Given the description of an element on the screen output the (x, y) to click on. 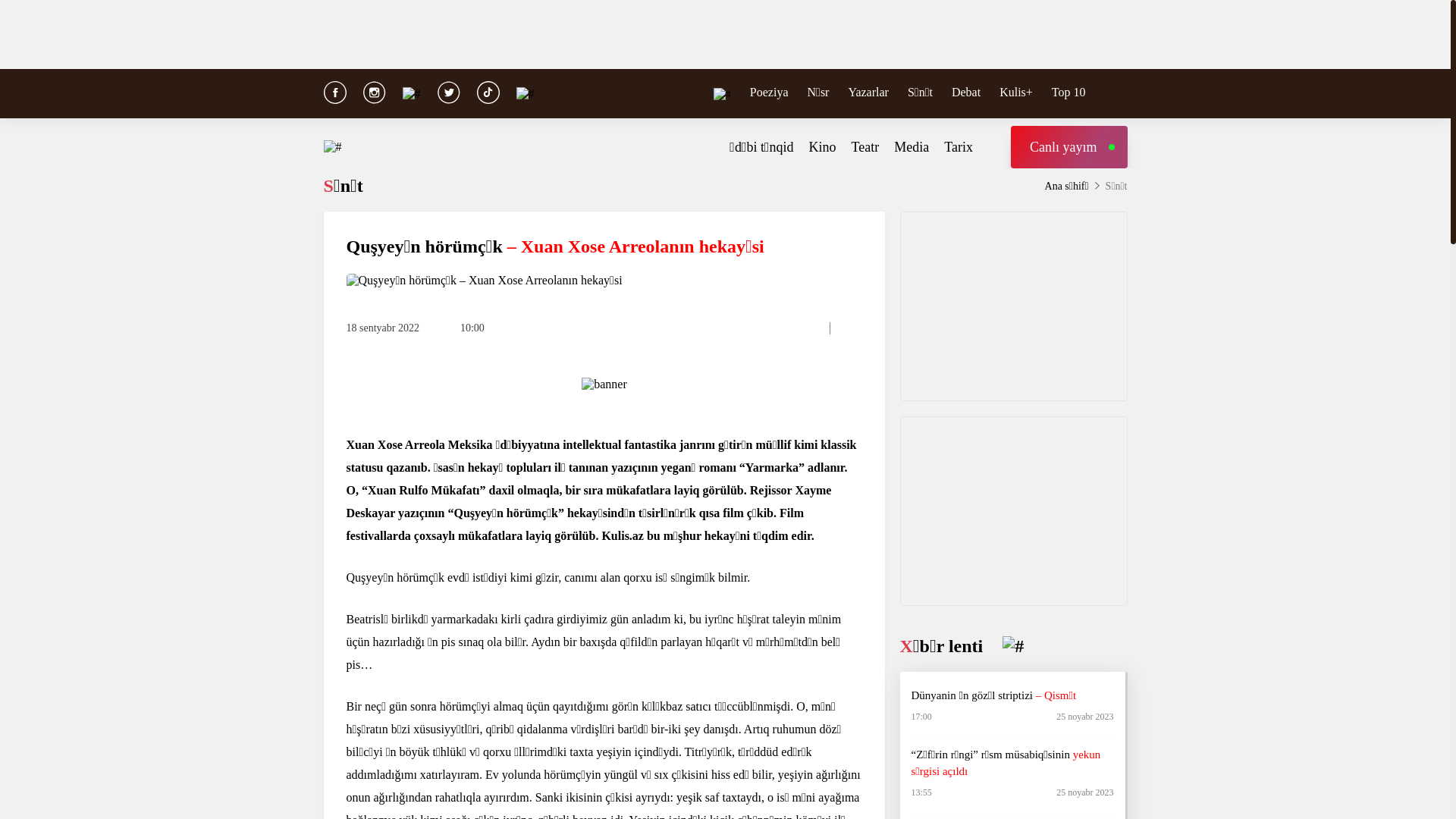
Kulis+ Element type: text (1015, 91)
Teatr Element type: text (865, 147)
Tarix Element type: text (958, 147)
Top 10 Element type: text (1068, 91)
Debat Element type: text (965, 91)
Media Element type: text (911, 147)
Poeziya Element type: text (768, 91)
Yazarlar Element type: text (867, 91)
Kino Element type: text (822, 147)
